Given the description of an element on the screen output the (x, y) to click on. 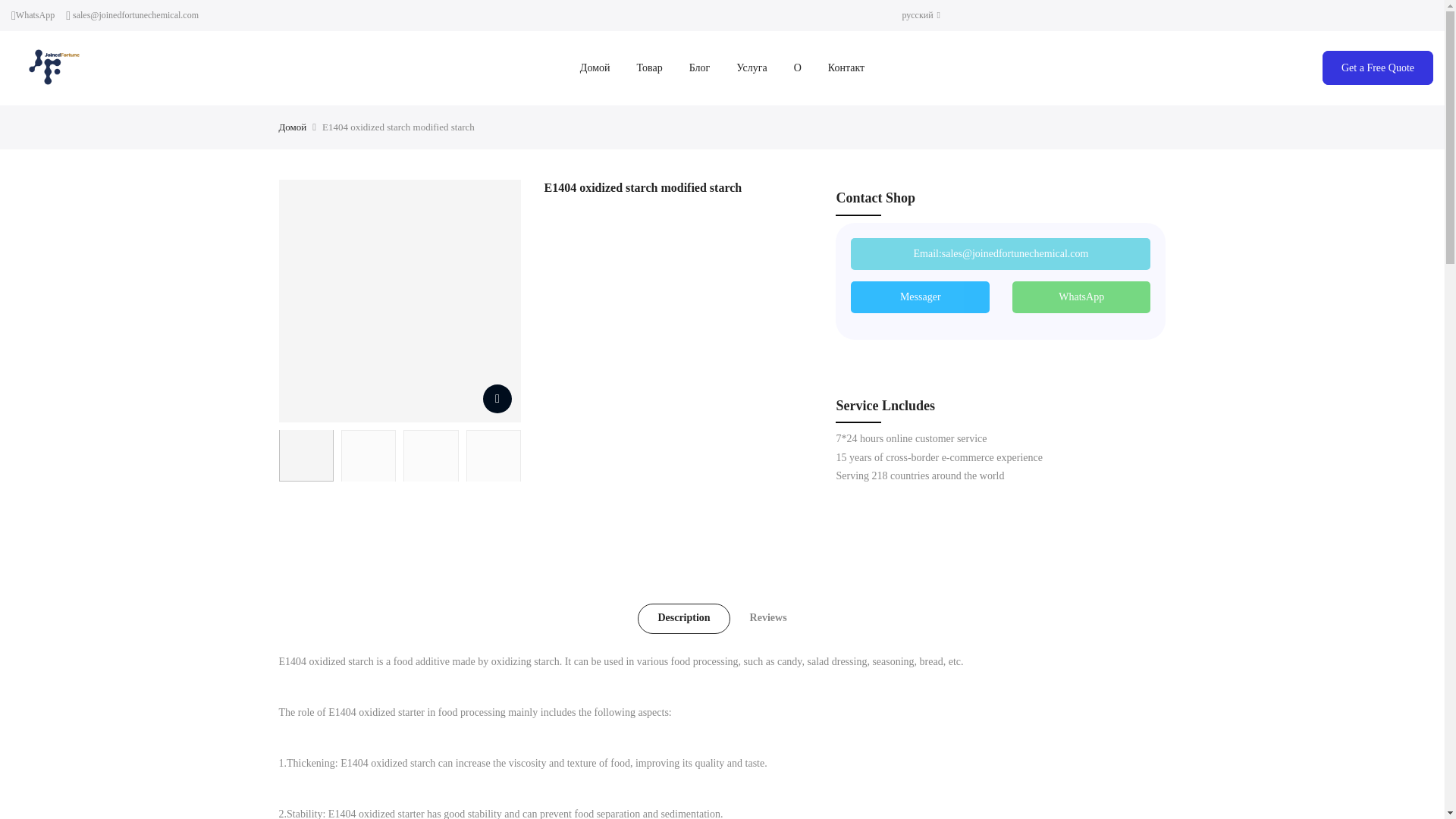
Get a Free Quote (1377, 67)
Description (683, 618)
Reviews (768, 618)
Messager (920, 296)
WhatsApp (1081, 296)
WhatsApp (35, 14)
